Given the description of an element on the screen output the (x, y) to click on. 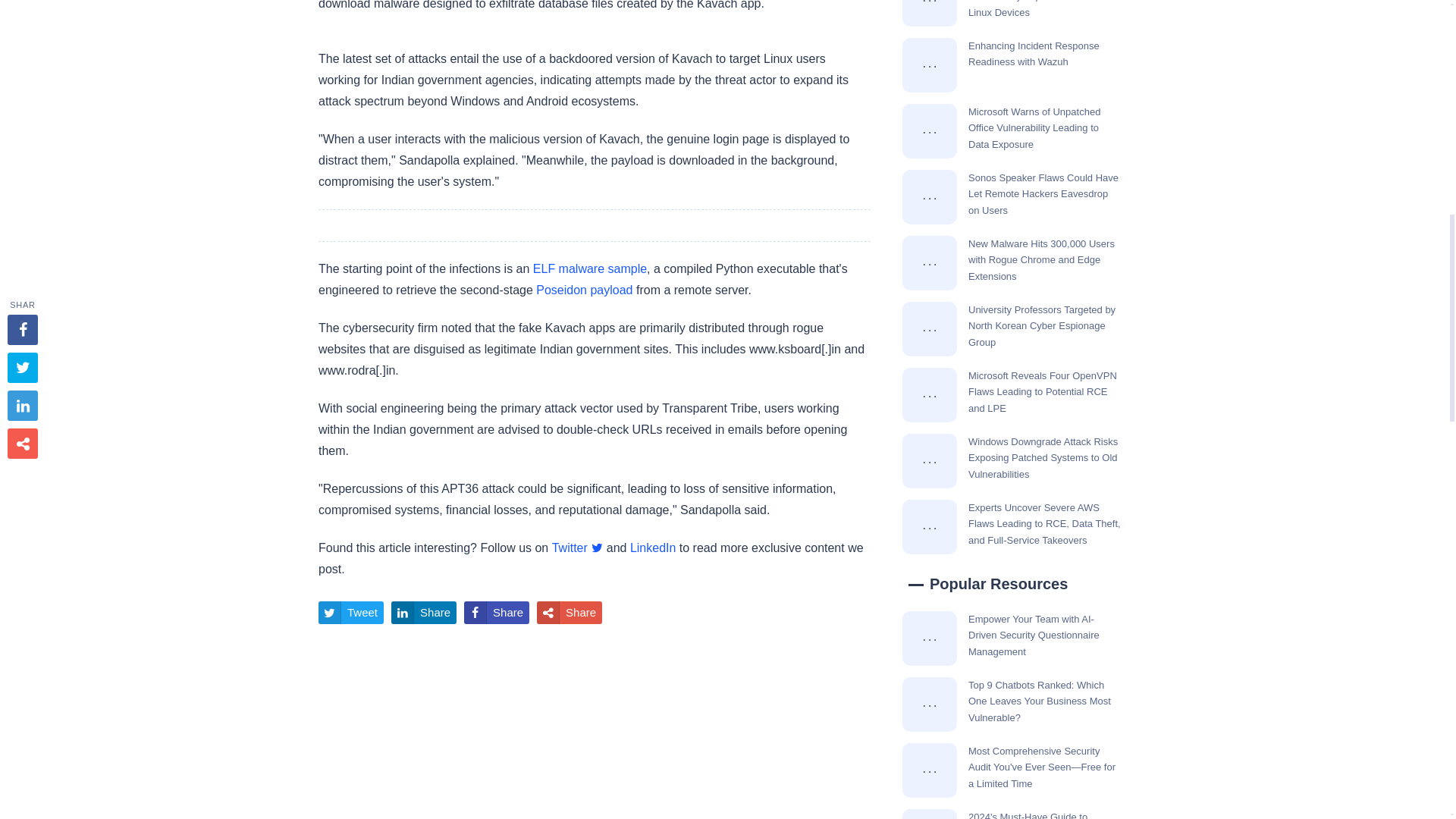
Enhancing Incident Response Readiness with Wazuh (929, 64)
